Given the description of an element on the screen output the (x, y) to click on. 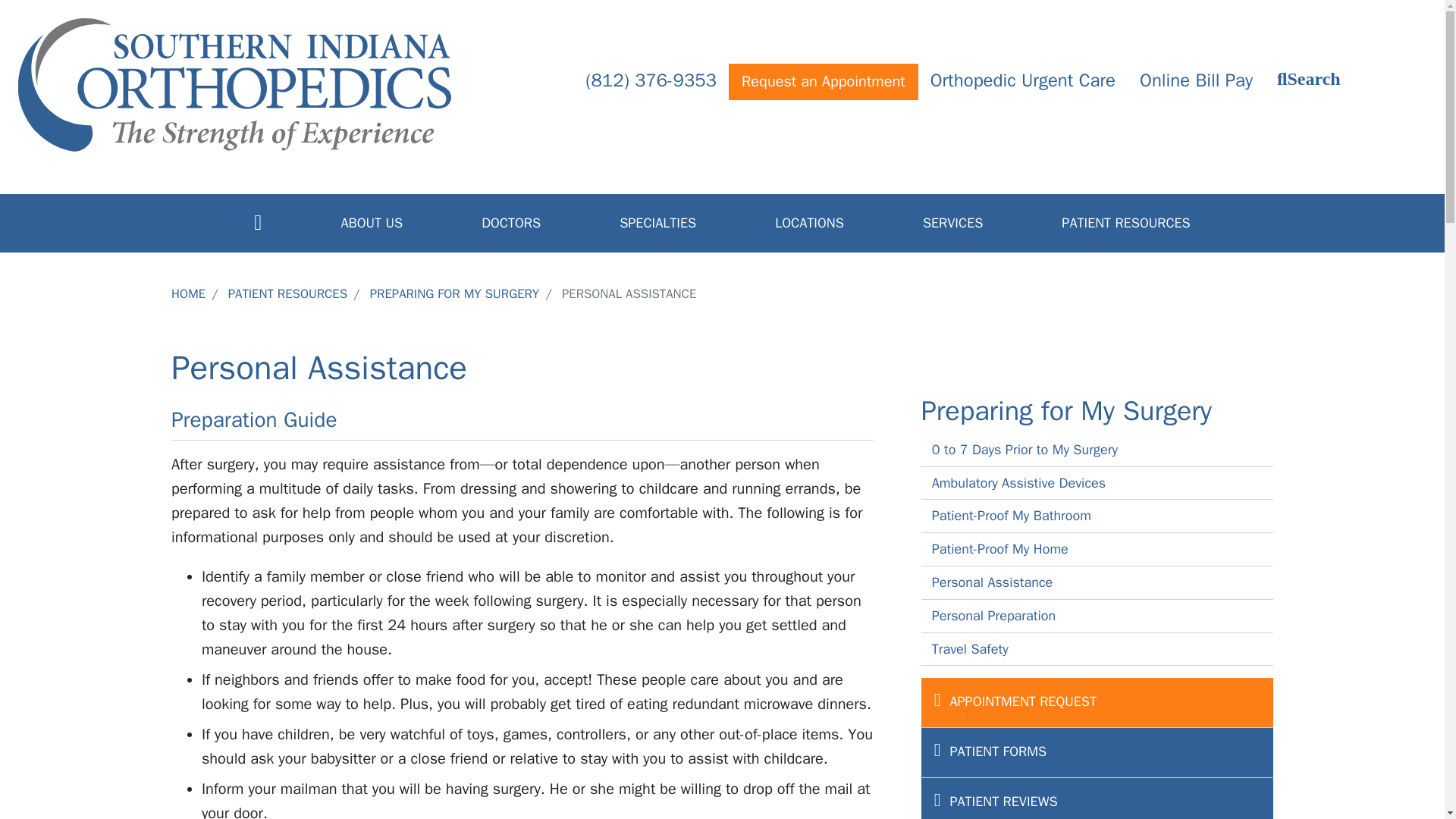
Home (234, 84)
Skip to main content (721, 1)
